Given the description of an element on the screen output the (x, y) to click on. 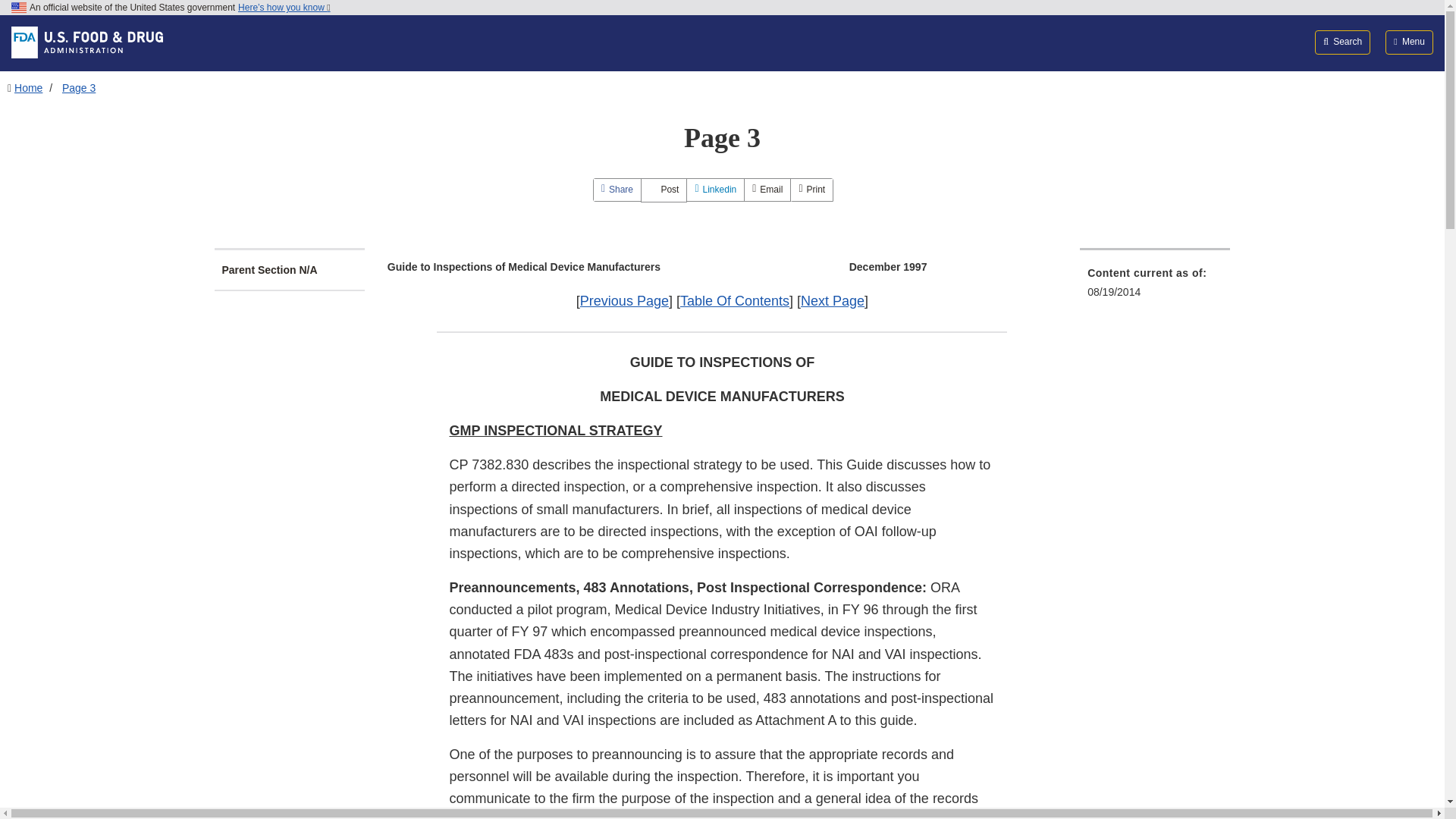
  Search (1342, 42)
Print this page (811, 189)
  Menu (1409, 42)
